Given the description of an element on the screen output the (x, y) to click on. 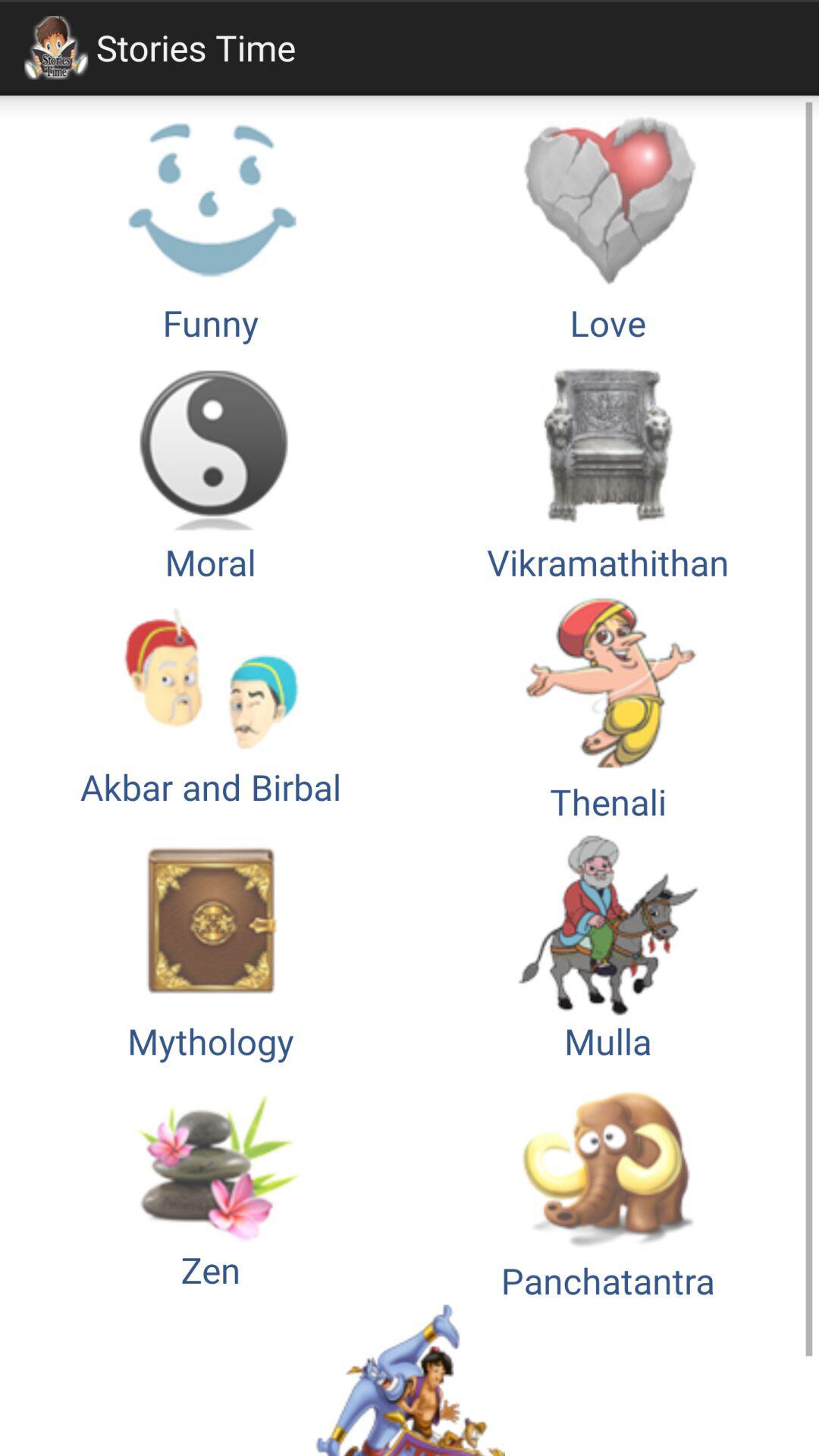
turn on the button below thenali button (210, 945)
